Given the description of an element on the screen output the (x, y) to click on. 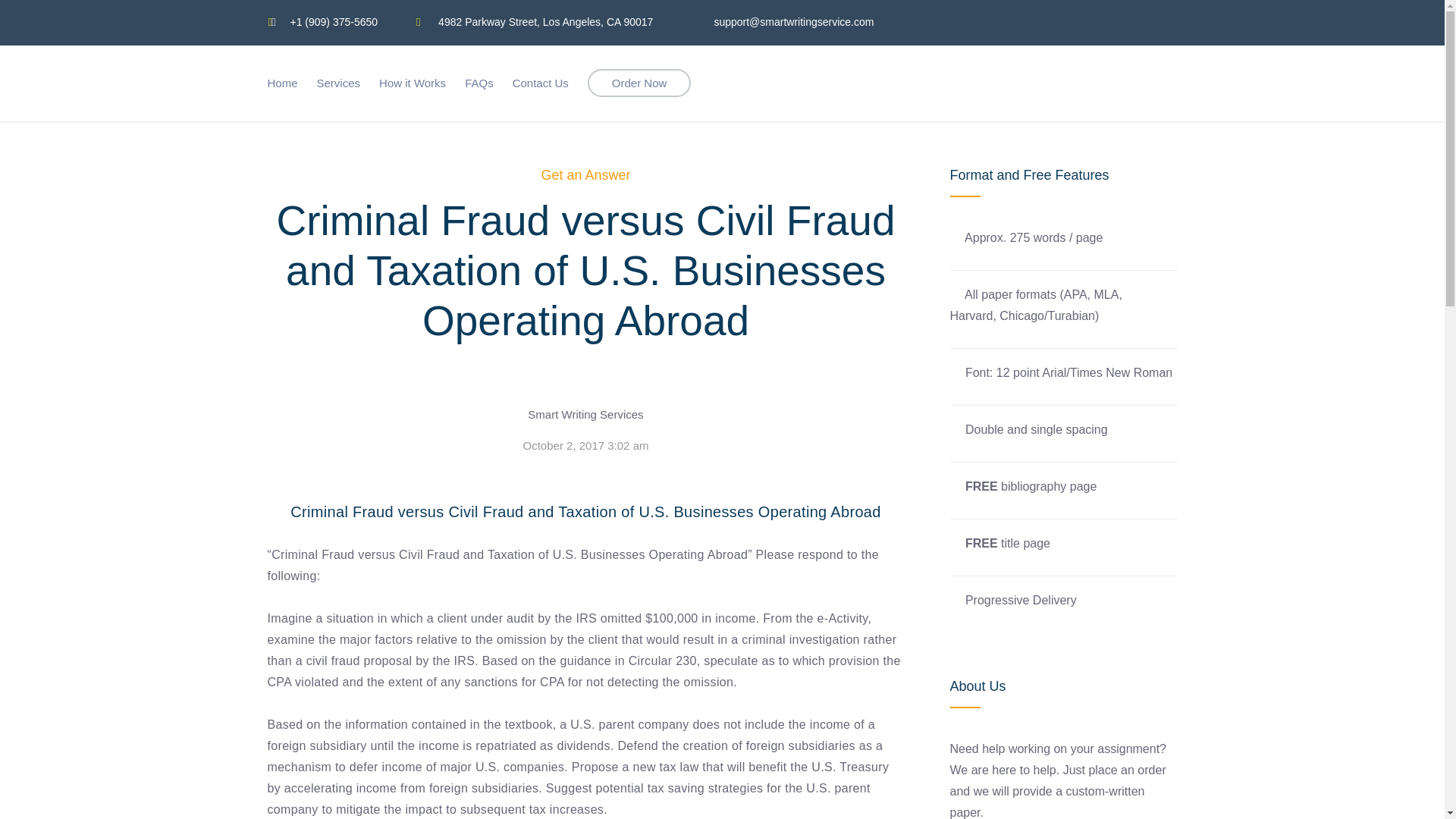
Order Now (639, 82)
Smart Writing Services (585, 414)
View all posts by Smart Writing Services (585, 414)
Get an Answer (585, 174)
